Given the description of an element on the screen output the (x, y) to click on. 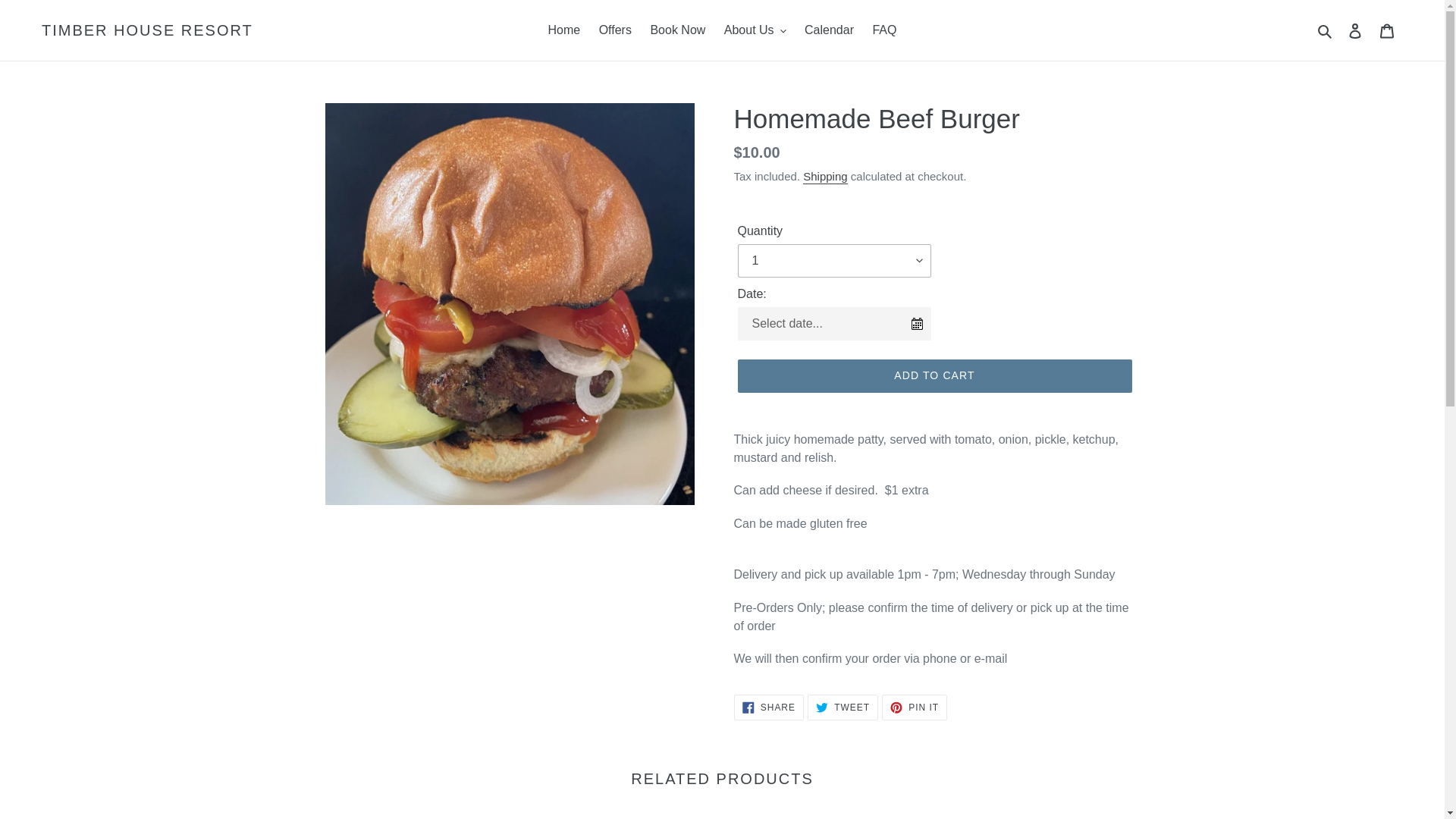
FAQ (884, 29)
Shipping (825, 176)
About Us (754, 29)
ADD TO CART (933, 376)
Log in (1355, 29)
Home (768, 707)
Search (842, 707)
Offers (564, 29)
Book Now (1326, 30)
Calendar (615, 29)
TIMBER HOUSE RESORT (677, 29)
